Given the description of an element on the screen output the (x, y) to click on. 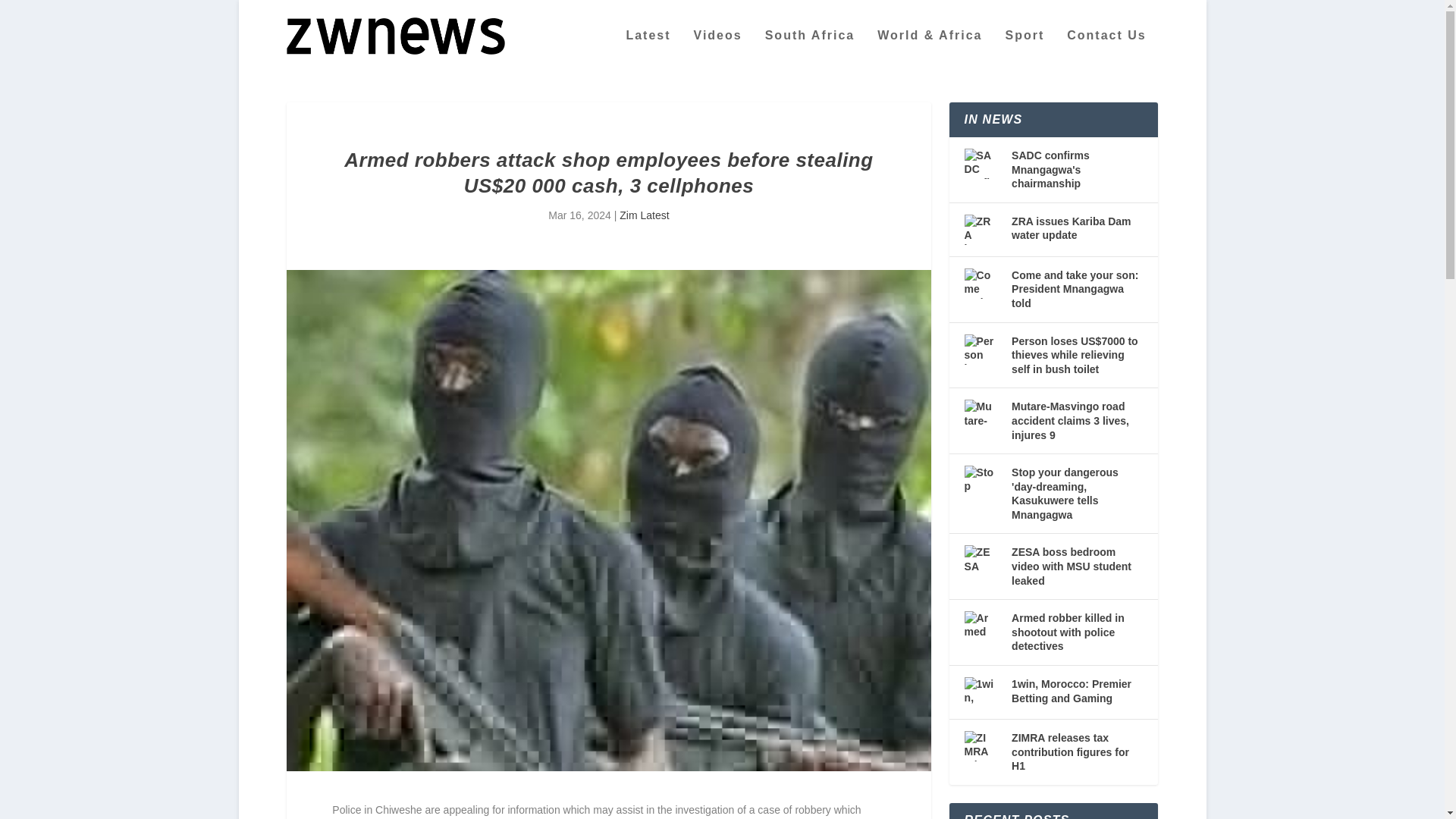
Latest (647, 50)
Videos (718, 50)
Zim Latest (644, 215)
South Africa (810, 50)
